Given the description of an element on the screen output the (x, y) to click on. 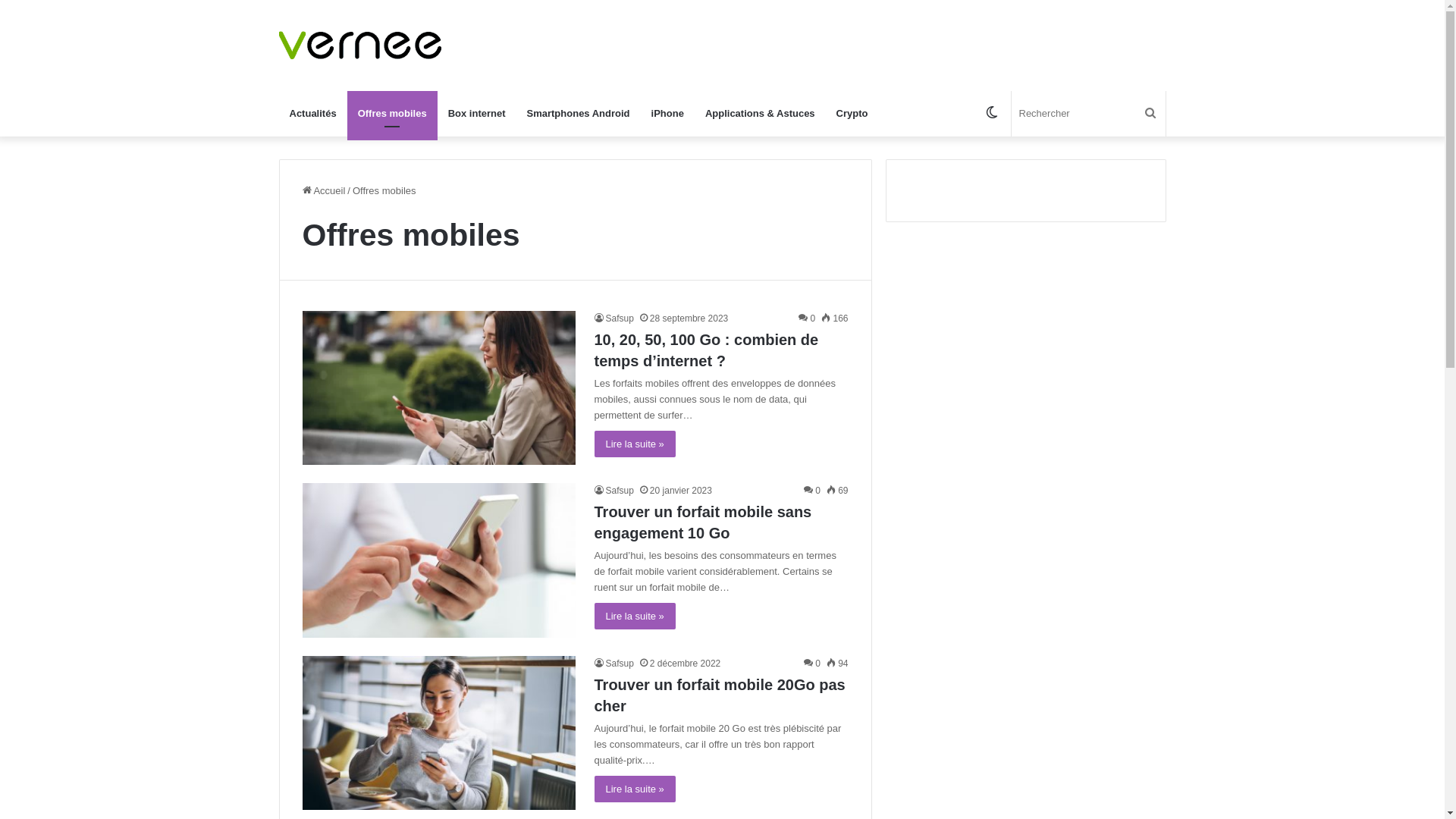
Accueil Element type: text (323, 190)
Safsup Element type: text (613, 490)
Trouver un forfait mobile sans engagement 10 Go Element type: text (703, 522)
Safsup Element type: text (613, 663)
Applications & Astuces Element type: text (759, 113)
Trouver un forfait mobile 20Go pas cher Element type: text (719, 695)
Offres mobiles Element type: text (392, 113)
Rechercher Element type: hover (1088, 113)
Rechercher Element type: text (1149, 113)
Switch skin Element type: text (990, 113)
iPhone Element type: text (667, 113)
Smartphones Android Element type: text (578, 113)
Safsup Element type: text (613, 318)
Crypto Element type: text (851, 113)
Vernee Element type: hover (360, 45)
Box internet Element type: text (476, 113)
